Given the description of an element on the screen output the (x, y) to click on. 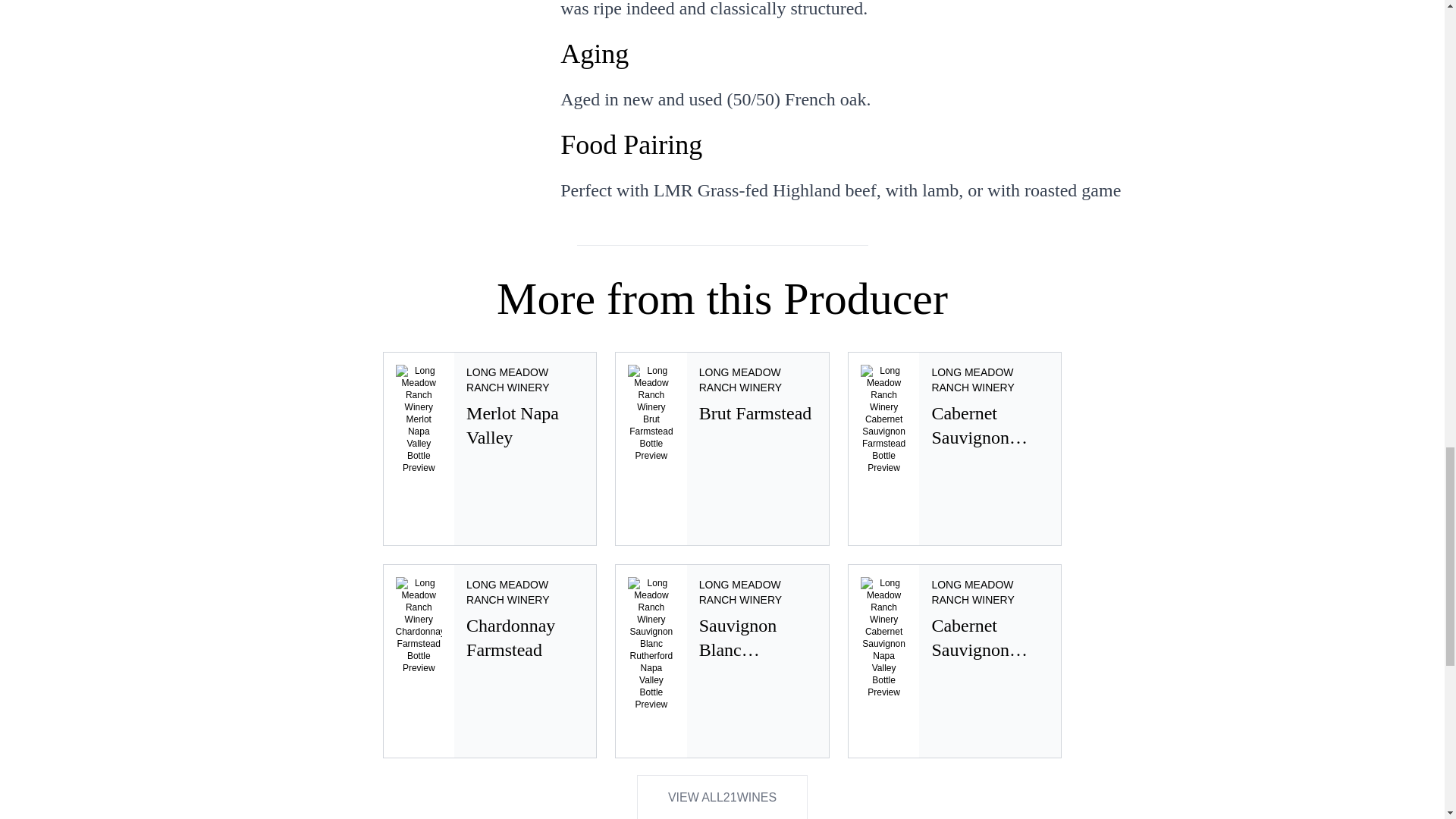
VIEW ALL21WINES (954, 661)
